Given the description of an element on the screen output the (x, y) to click on. 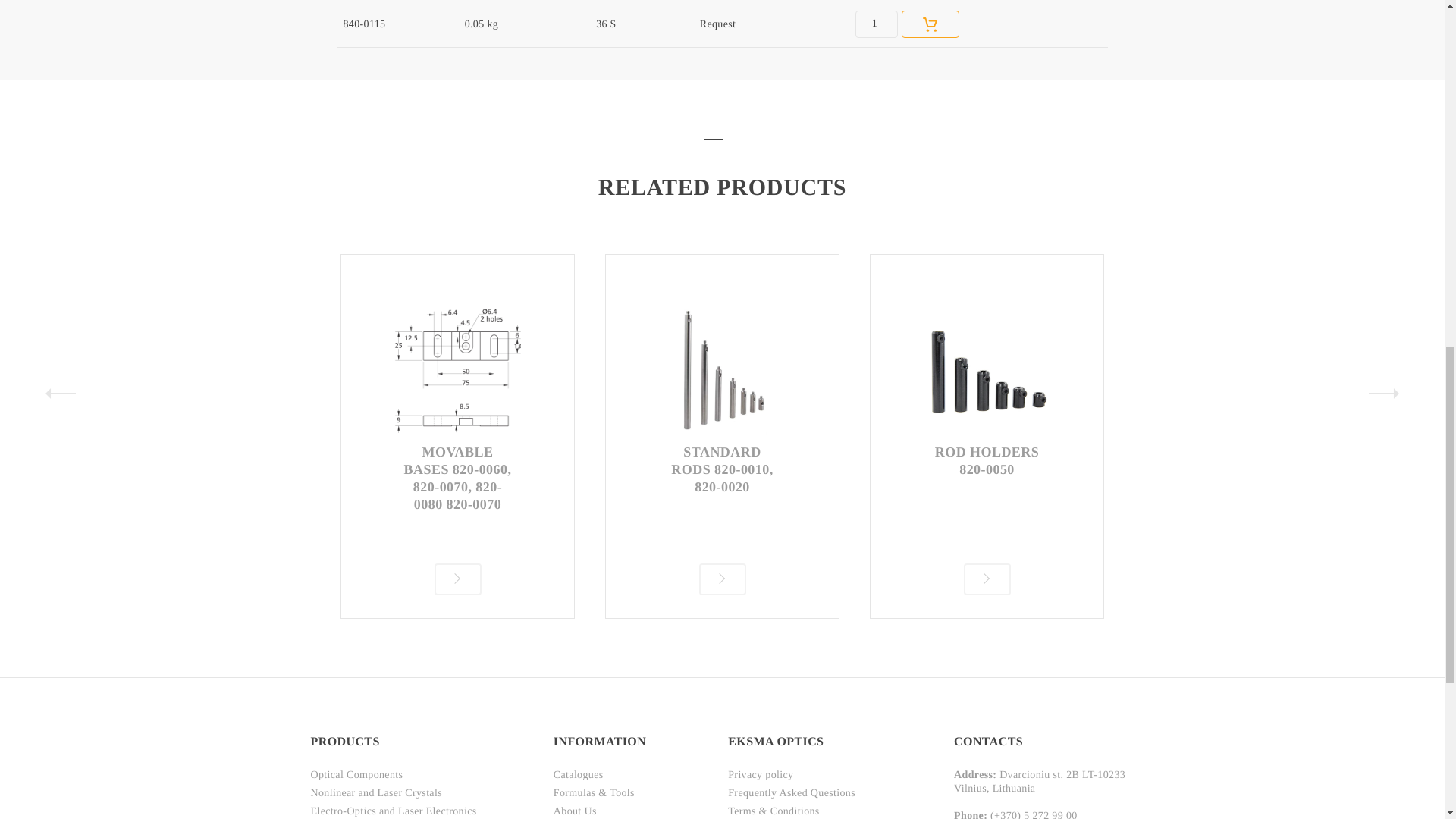
1 (877, 23)
